Given the description of an element on the screen output the (x, y) to click on. 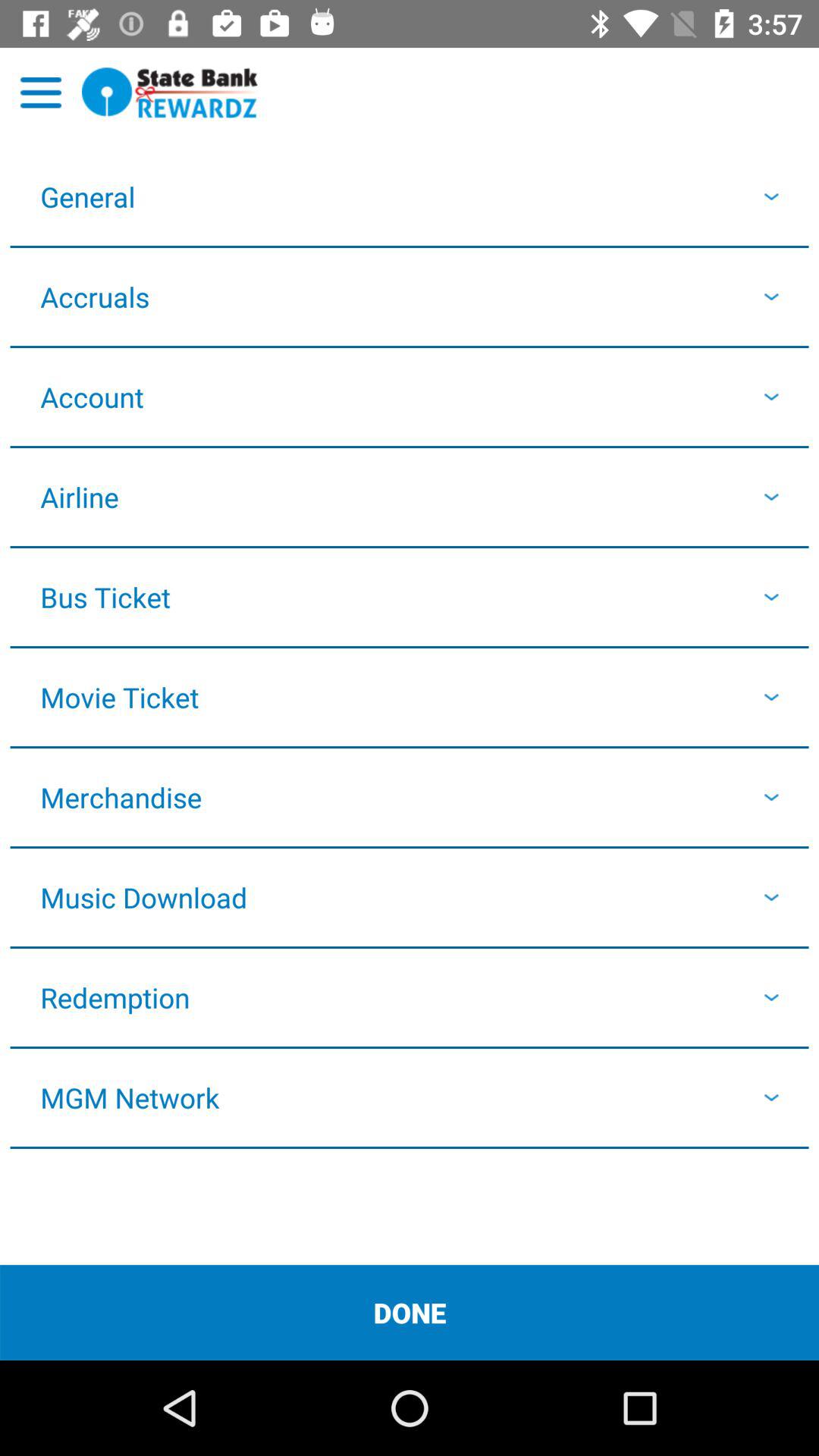
return home (169, 92)
